Given the description of an element on the screen output the (x, y) to click on. 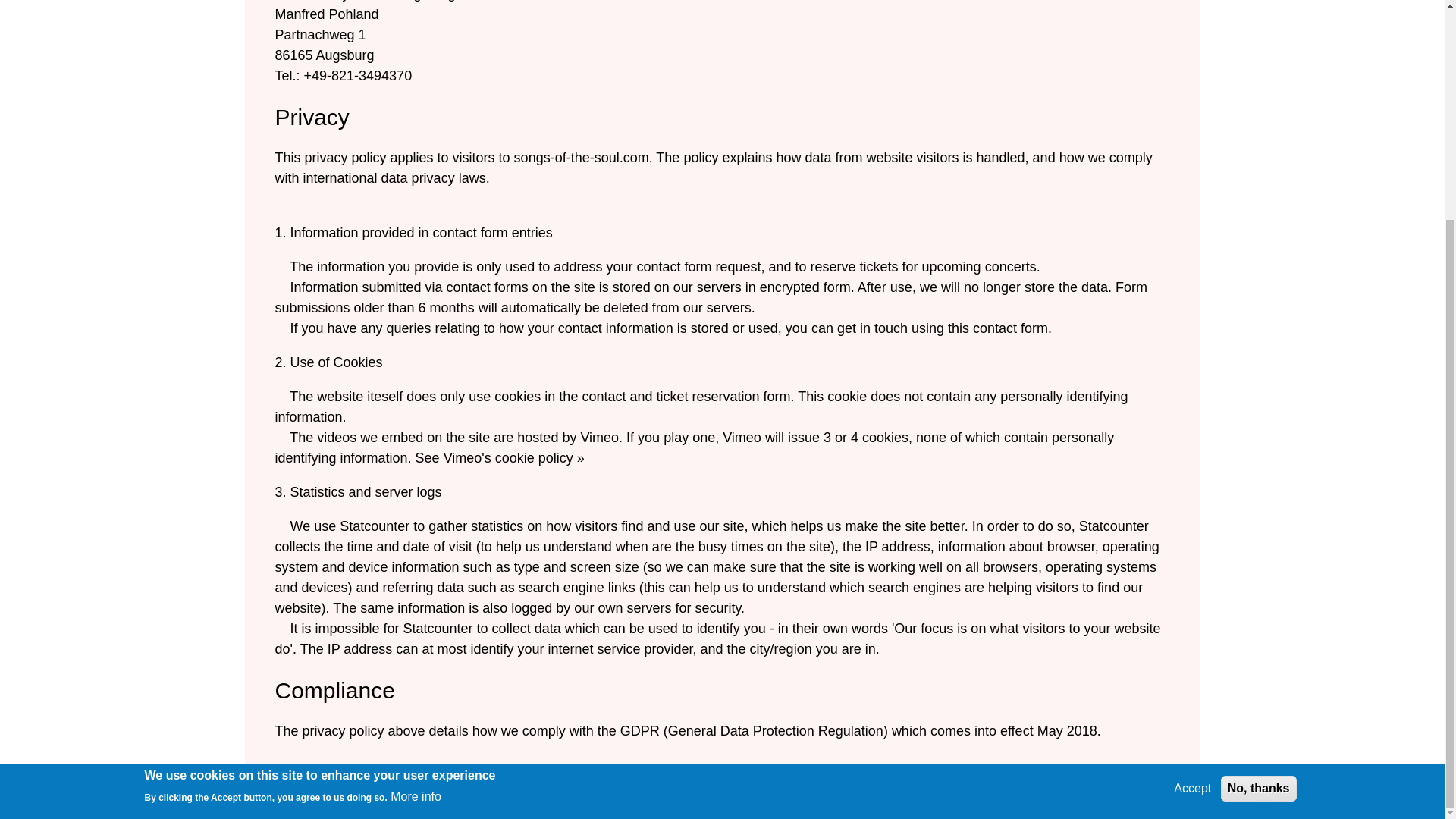
About (654, 802)
Privacy (704, 802)
No, thanks (1259, 497)
Accept (1192, 497)
More info (415, 505)
